Given the description of an element on the screen output the (x, y) to click on. 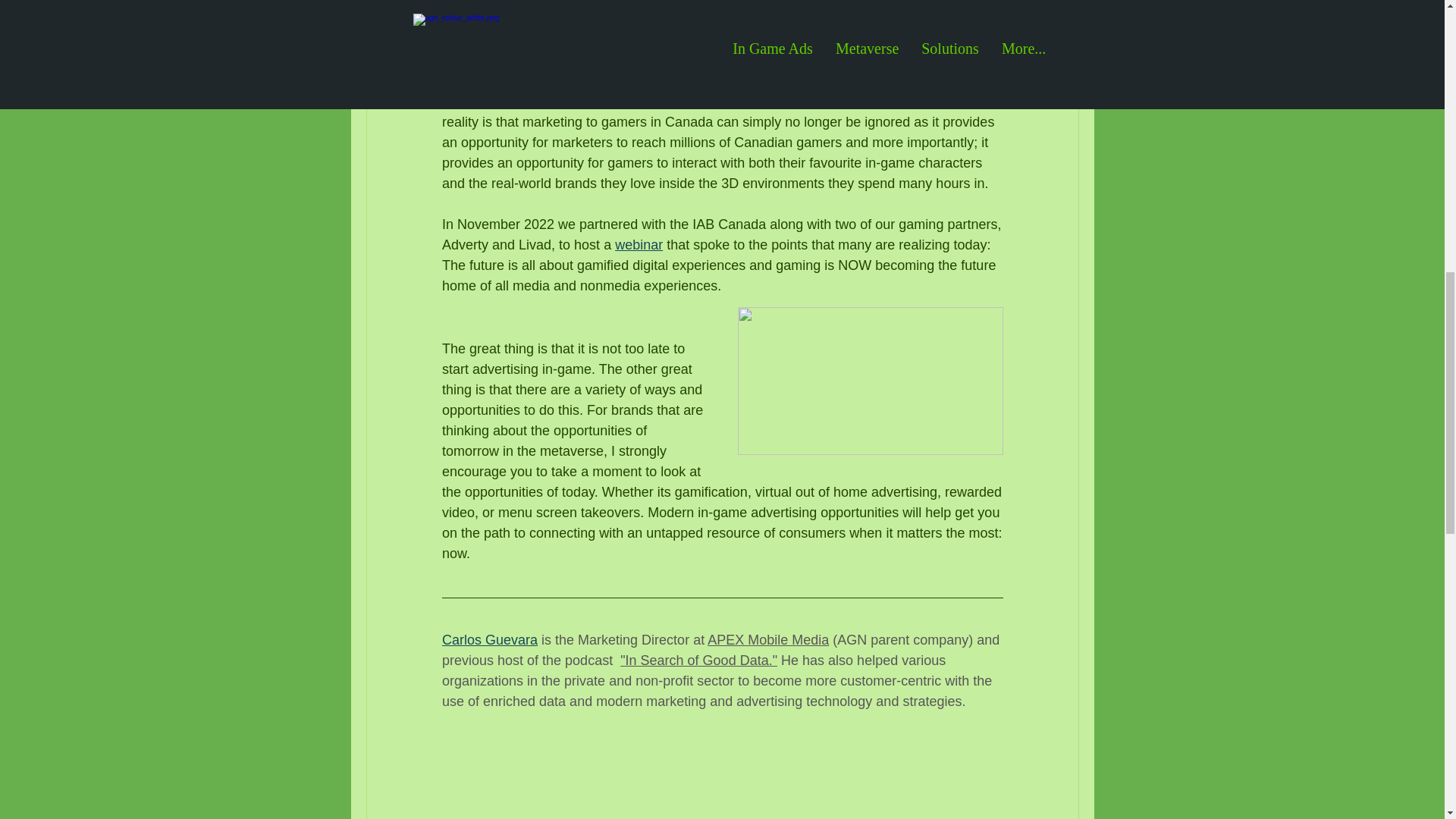
metaverse  (833, 60)
webinar (638, 244)
"In Search of Good Data." (698, 660)
Carlos Guevara (489, 639)
APEX Mobile Media (767, 639)
